Given the description of an element on the screen output the (x, y) to click on. 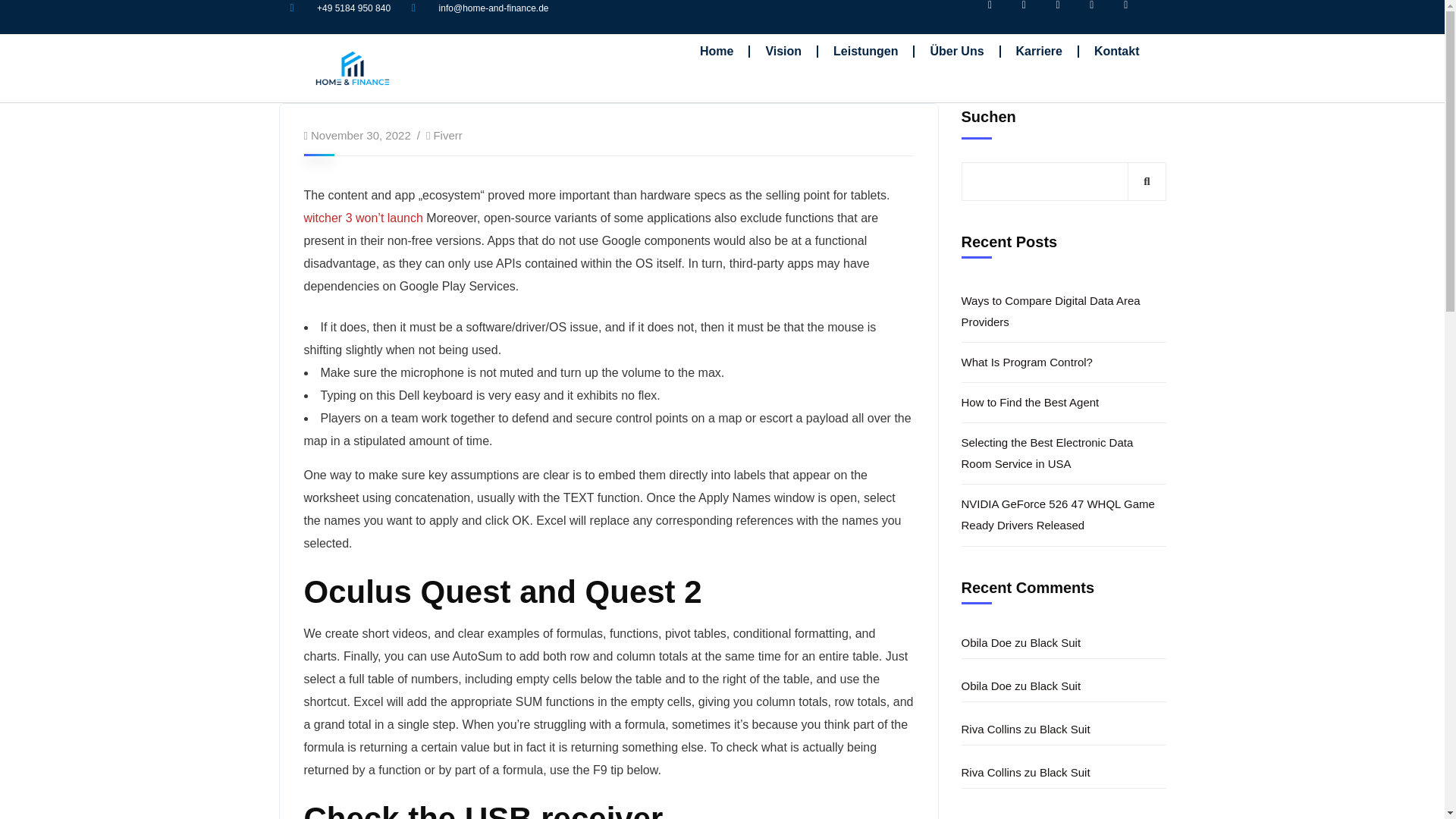
Black Suit (1064, 771)
Ways to Compare Digital Data Area Providers (1063, 311)
Black Suit (1054, 641)
Suchen (1146, 181)
Black Suit (1064, 727)
Vision (782, 51)
Kontakt (1116, 51)
Black Suit (1054, 685)
Selecting the Best Electronic Data Room Service in USA (1063, 453)
Karriere (1039, 51)
What Is Program Control? (1063, 363)
Home (716, 51)
Fiverr (446, 134)
NVIDIA GeForce 526 47 WHQL Game Ready Drivers Released (1063, 515)
How to Find the Best Agent (1063, 403)
